Given the description of an element on the screen output the (x, y) to click on. 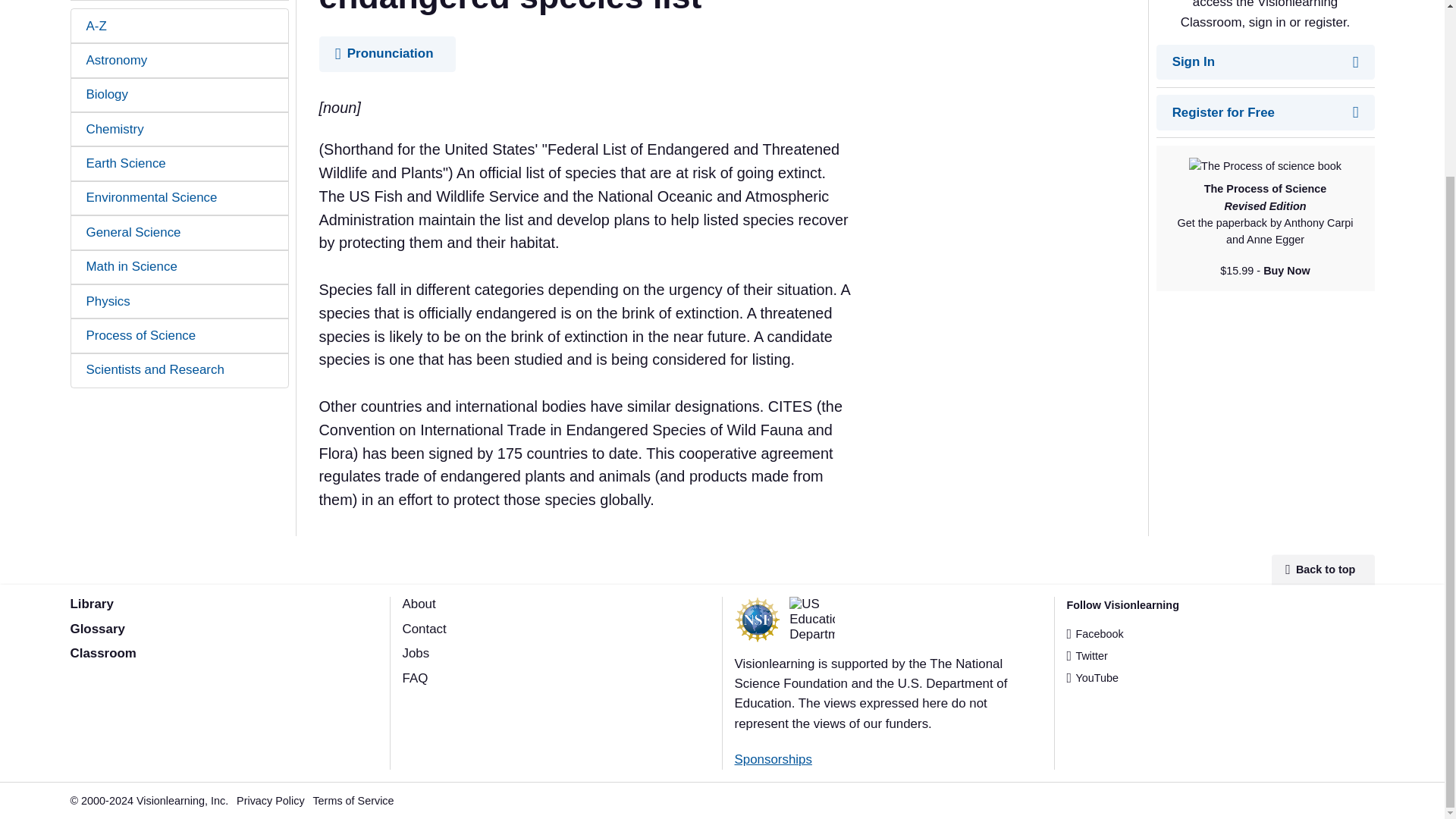
Science terms (96, 628)
Earth Science (179, 163)
Chemistry (179, 129)
Classroom (102, 653)
Contact (423, 628)
Physics (179, 301)
Library (91, 603)
Scientists and Research (179, 369)
Jobs (415, 653)
Environmental Science (179, 197)
A-Z (179, 26)
Astronomy (179, 59)
Process of Science (179, 335)
About (418, 603)
Biology (179, 94)
